Given the description of an element on the screen output the (x, y) to click on. 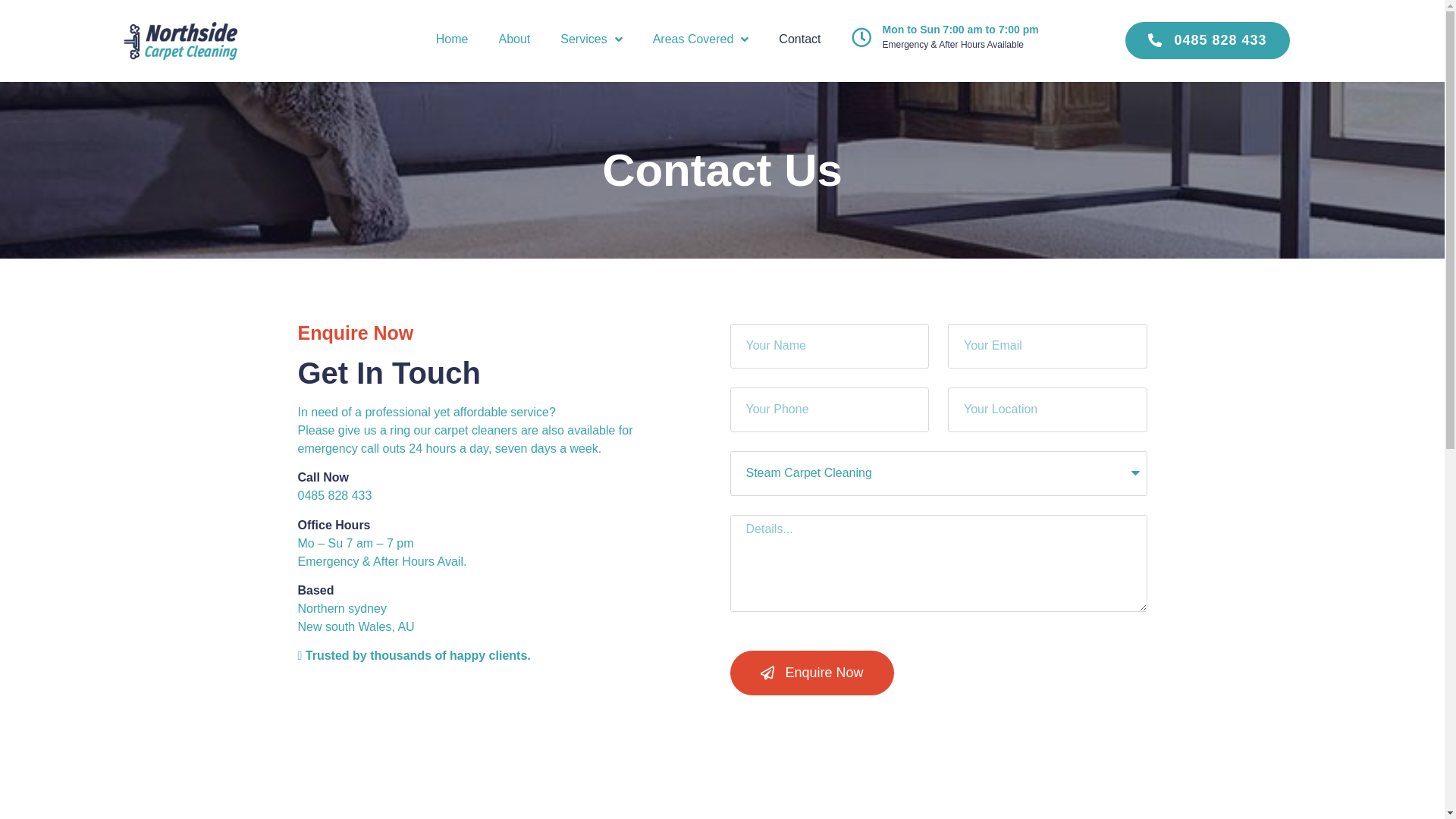
Enquire Now Element type: text (811, 672)
About Element type: text (514, 38)
0485 828 433 Element type: text (334, 495)
Services Element type: text (591, 38)
0485 828 433 Element type: text (1207, 40)
Home Element type: text (451, 38)
Areas Covered Element type: text (700, 38)
Contact Element type: text (799, 38)
